Given the description of an element on the screen output the (x, y) to click on. 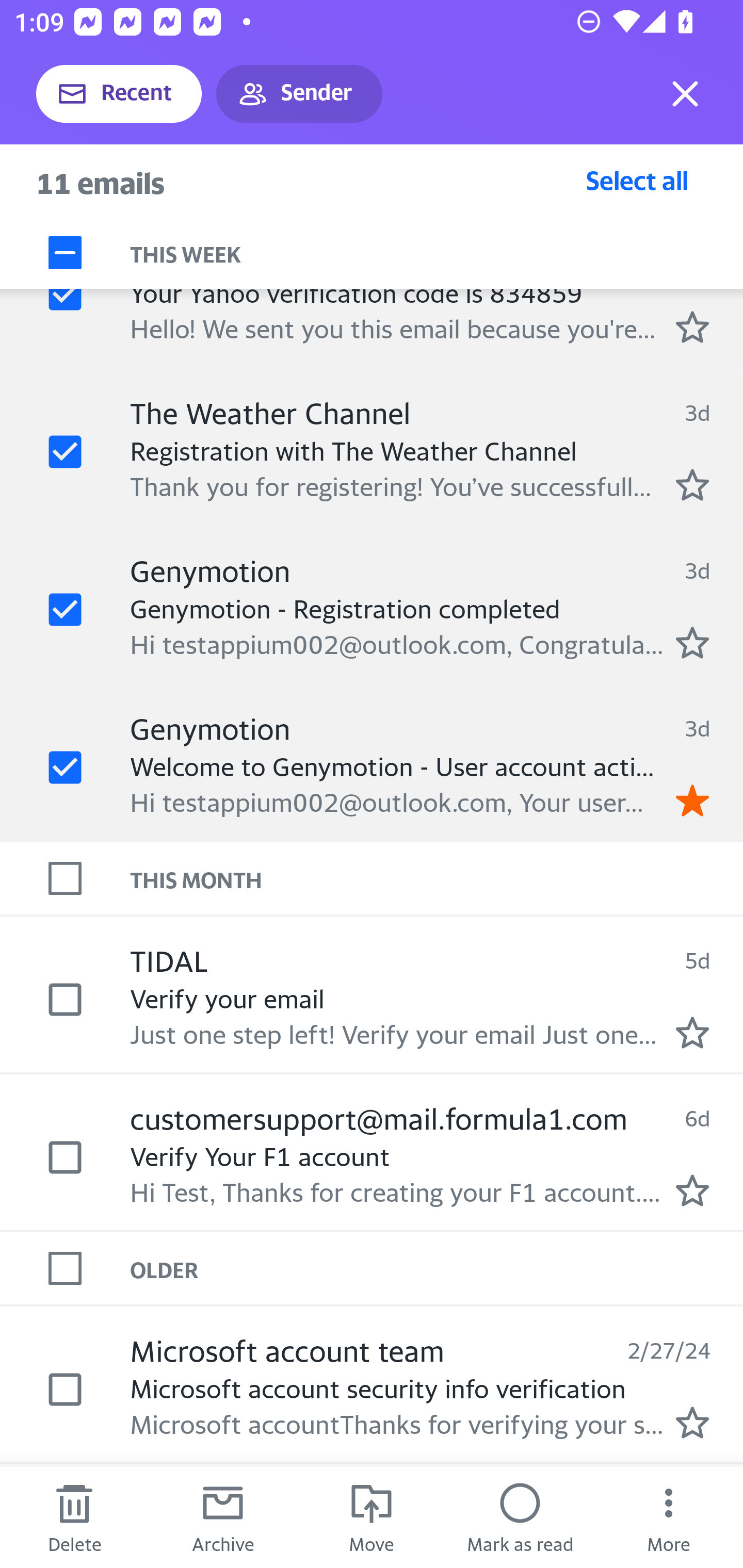
Sender (299, 93)
Exit selection mode (684, 93)
Select all (637, 180)
Mark as starred. (692, 326)
Mark as starred. (692, 485)
Mark as starred. (692, 642)
Remove star. (692, 800)
THIS MONTH (436, 878)
Mark as starred. (692, 1032)
Mark as starred. (692, 1190)
OLDER (436, 1267)
Mark as starred. (692, 1422)
Delete (74, 1517)
Archive (222, 1517)
Move (371, 1517)
Mark as read (519, 1517)
More (668, 1517)
